Given the description of an element on the screen output the (x, y) to click on. 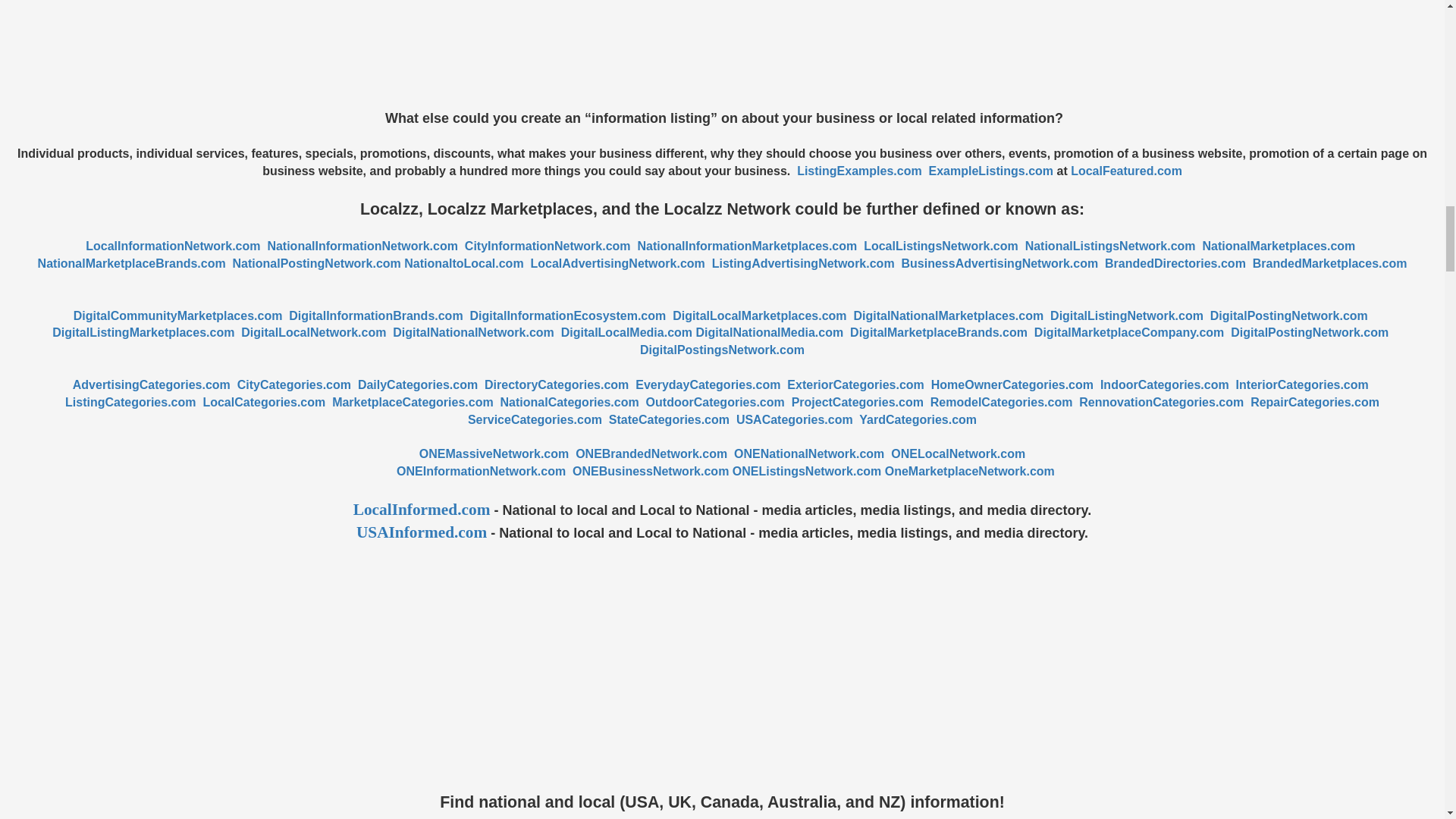
Advertisement (721, 54)
